Given the description of an element on the screen output the (x, y) to click on. 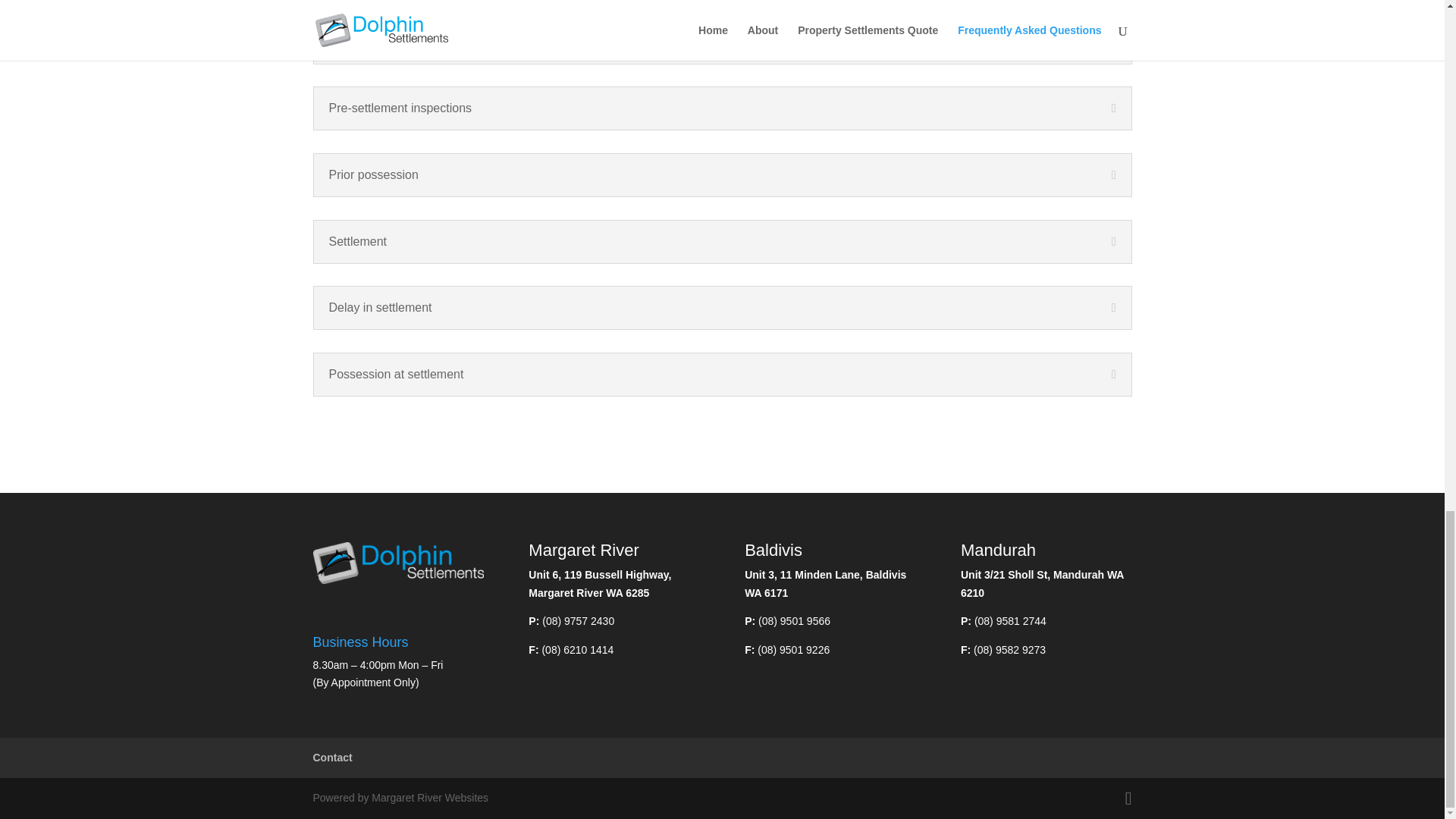
Contact (332, 757)
Margaret River (583, 549)
Baldivis (773, 549)
Mandurah (997, 549)
